Given the description of an element on the screen output the (x, y) to click on. 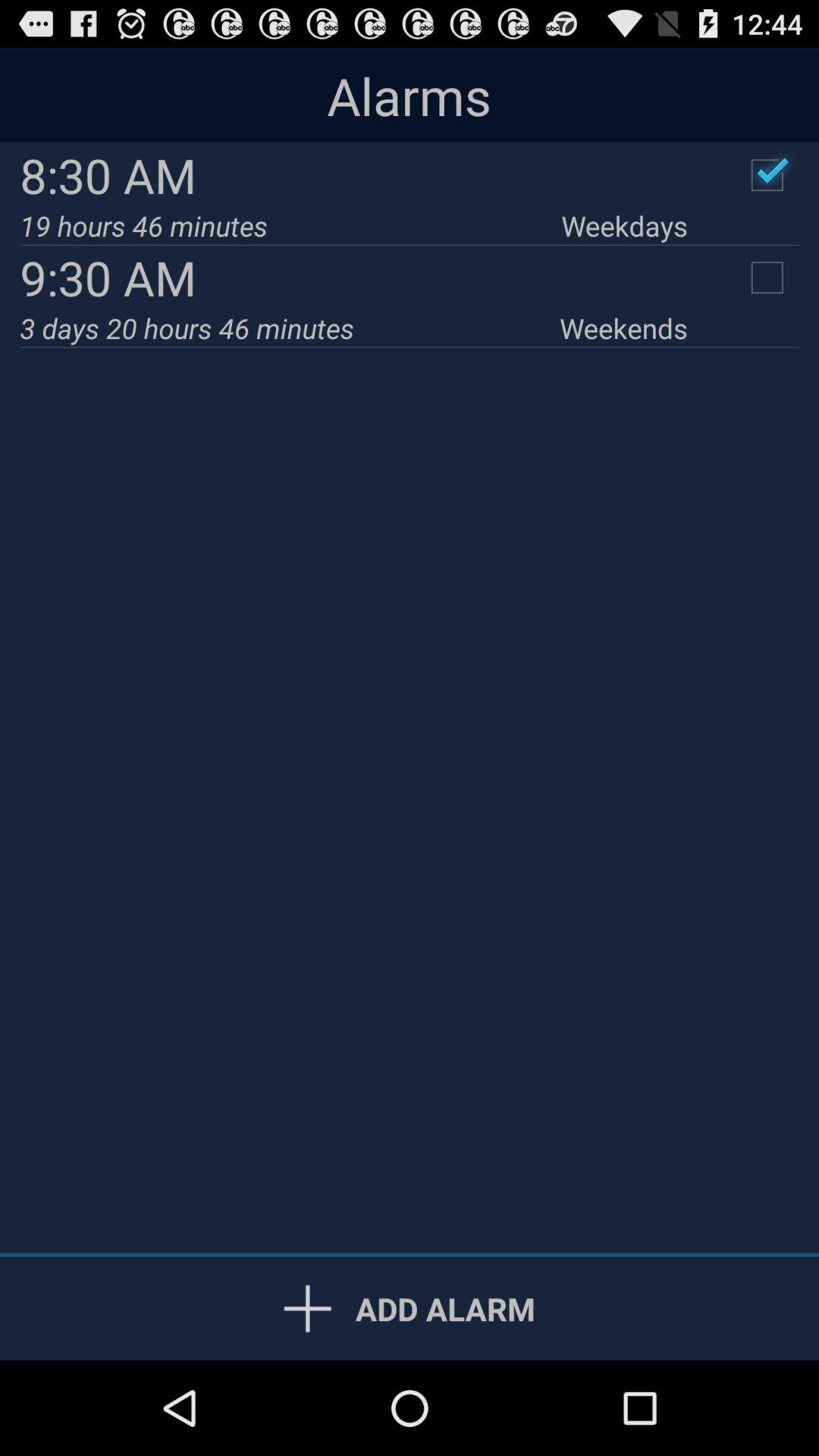
click weekdays icon (624, 225)
